Given the description of an element on the screen output the (x, y) to click on. 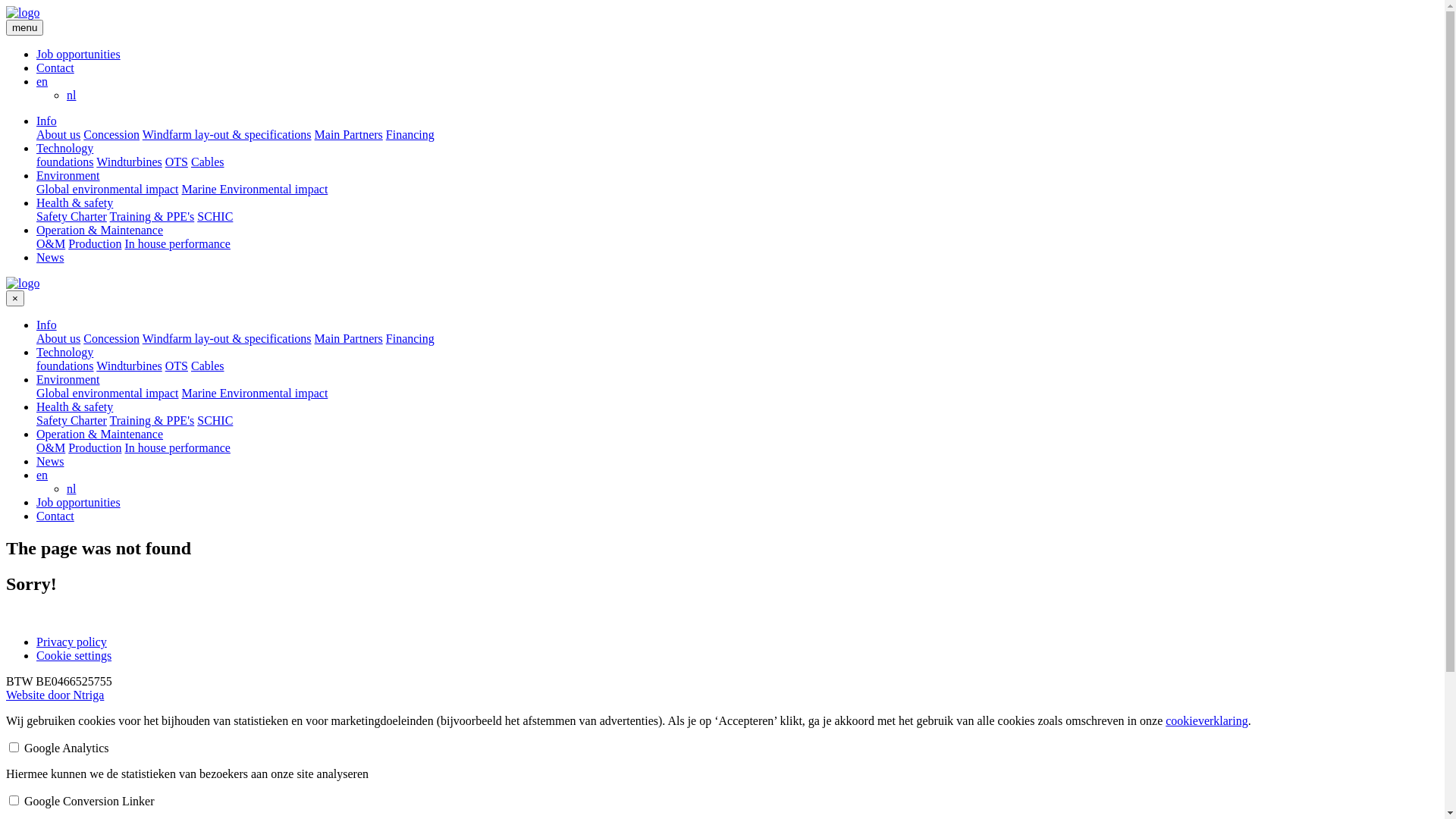
Operation & Maintenance Element type: text (99, 229)
foundations Element type: text (65, 161)
OTS Element type: text (176, 161)
OTS Element type: text (176, 365)
About us Element type: text (58, 338)
Global environmental impact Element type: text (107, 188)
cookieverklaring Element type: text (1206, 720)
Global environmental impact Element type: text (107, 392)
Environment Element type: text (68, 175)
Privacy policy Element type: text (71, 641)
SCHIC Element type: text (214, 420)
menu Element type: text (24, 27)
Main Partners Element type: text (348, 338)
Cables Element type: text (207, 365)
Info Element type: text (46, 324)
Windturbines Element type: text (128, 161)
Marine Environmental impact Element type: text (255, 392)
Health & safety Element type: text (74, 406)
Concession Element type: text (111, 134)
Environment Element type: text (68, 379)
Job opportunities Element type: text (78, 501)
Job opportunities Element type: text (78, 53)
In house performance Element type: text (177, 447)
Concession Element type: text (111, 338)
News Element type: text (49, 257)
foundations Element type: text (65, 365)
Marine Environmental impact Element type: text (255, 188)
Contact Element type: text (55, 515)
nl Element type: text (70, 94)
O&M Element type: text (50, 447)
Cookie settings Element type: text (73, 655)
en Element type: text (41, 81)
Main Partners Element type: text (348, 134)
Cables Element type: text (207, 161)
News Element type: text (49, 461)
Financing Element type: text (409, 338)
Health & safety Element type: text (74, 202)
Info Element type: text (46, 120)
In house performance Element type: text (177, 243)
Operation & Maintenance Element type: text (99, 433)
Safety Charter Element type: text (71, 420)
Windfarm lay-out & specifications Element type: text (226, 134)
Financing Element type: text (409, 134)
Production Element type: text (94, 243)
SCHIC Element type: text (214, 216)
Production Element type: text (94, 447)
nl Element type: text (70, 488)
Contact Element type: text (55, 67)
Training & PPE's Element type: text (151, 216)
Windturbines Element type: text (128, 365)
Training & PPE's Element type: text (151, 420)
en Element type: text (41, 474)
Windfarm lay-out & specifications Element type: text (226, 338)
About us Element type: text (58, 134)
Safety Charter Element type: text (71, 216)
Website door Ntriga Element type: text (54, 694)
O&M Element type: text (50, 243)
Technology Element type: text (64, 147)
Technology Element type: text (64, 351)
